Given the description of an element on the screen output the (x, y) to click on. 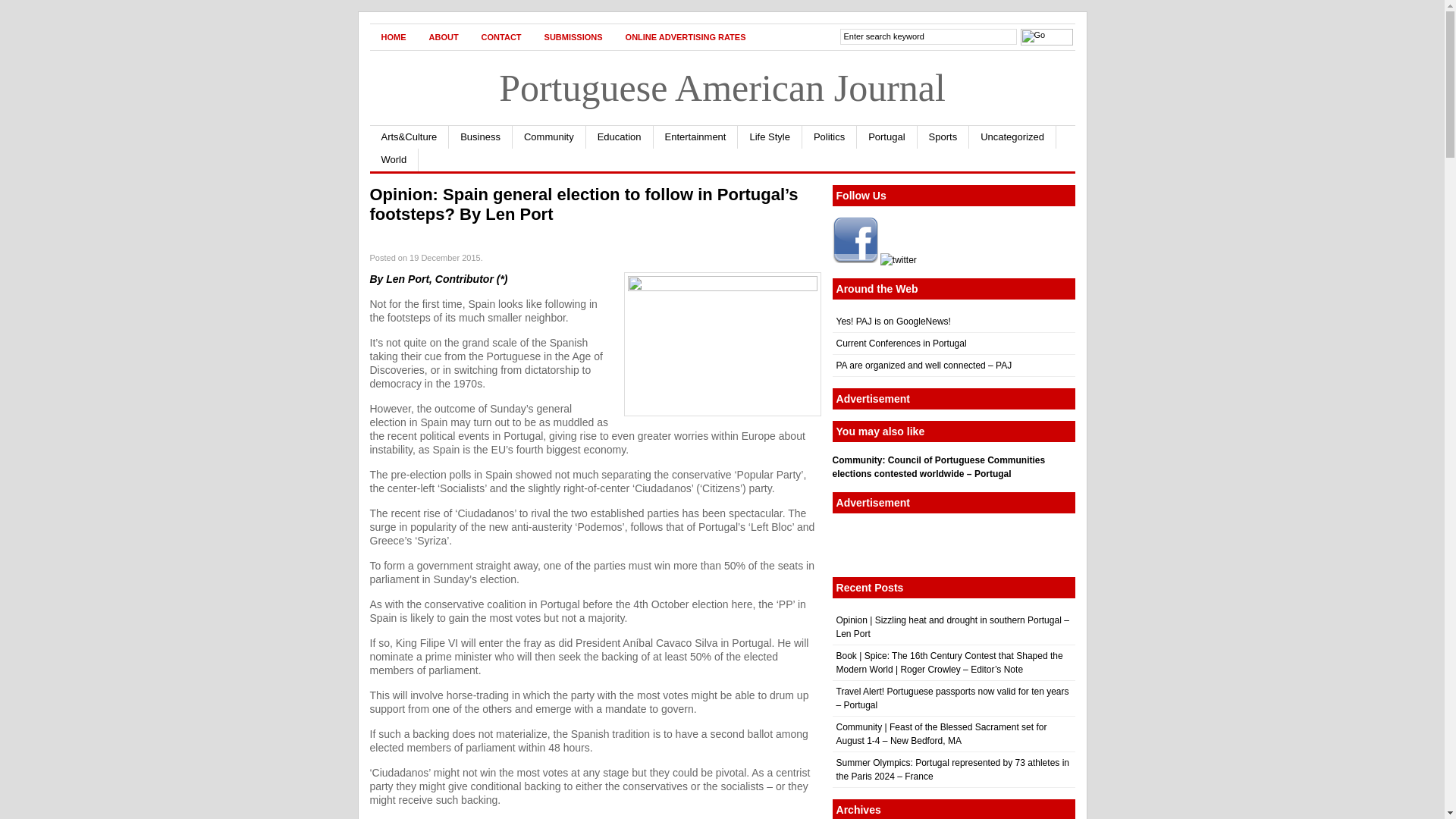
SUBMISSIONS (573, 36)
Entertainment (695, 137)
ABOUT (442, 36)
ONLINE ADVERTISING RATES (685, 36)
CONTACT (501, 36)
Business (480, 137)
Community (549, 137)
Education (619, 137)
Enter search keyword (928, 36)
Go (1046, 36)
